Given the description of an element on the screen output the (x, y) to click on. 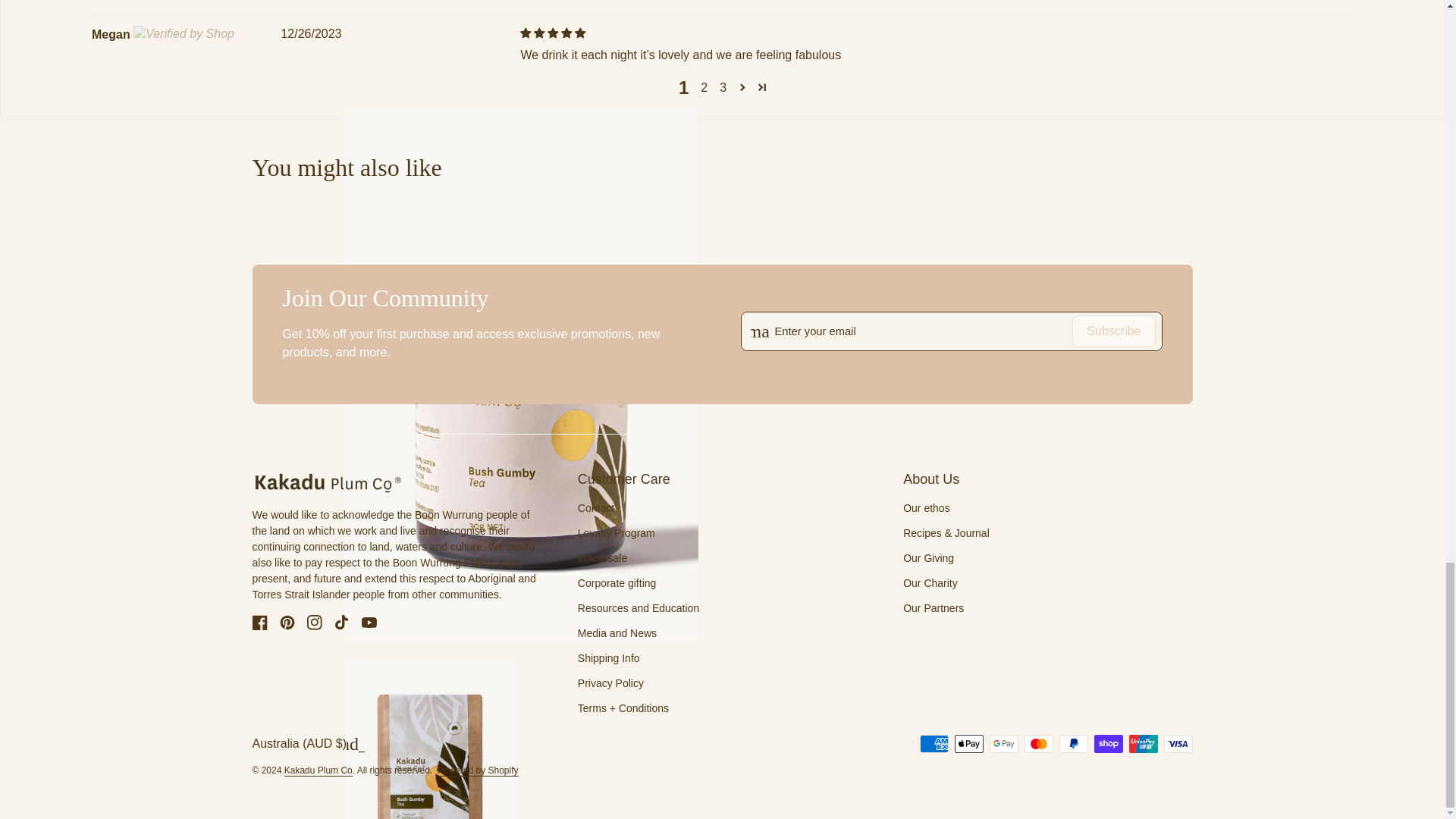
Twitter (553, 1)
LinkedIn (580, 1)
Subscribe (1112, 331)
Facebook (525, 1)
Pinterest (607, 1)
